Given the description of an element on the screen output the (x, y) to click on. 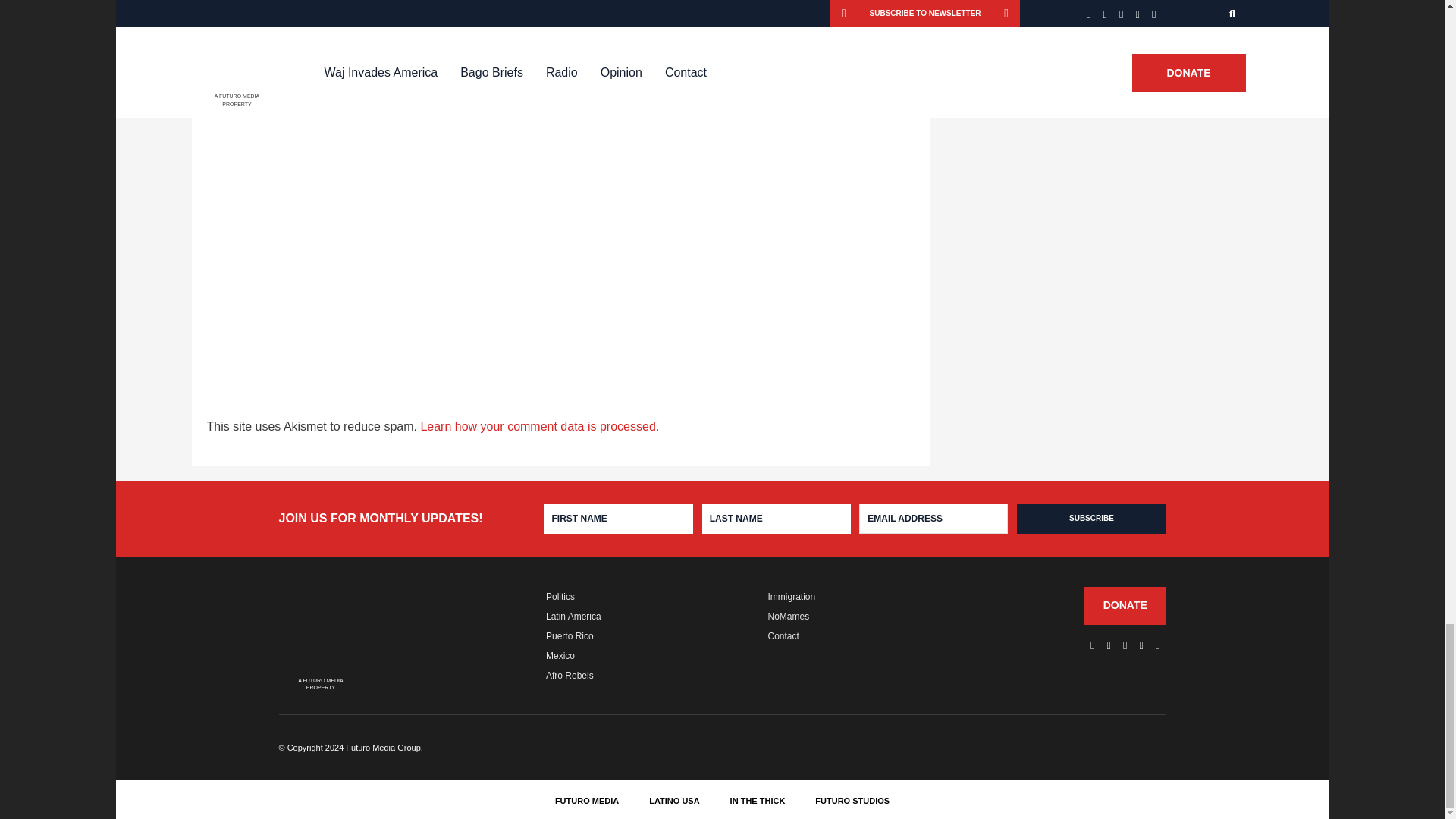
Subscribe (1091, 518)
